Given the description of an element on the screen output the (x, y) to click on. 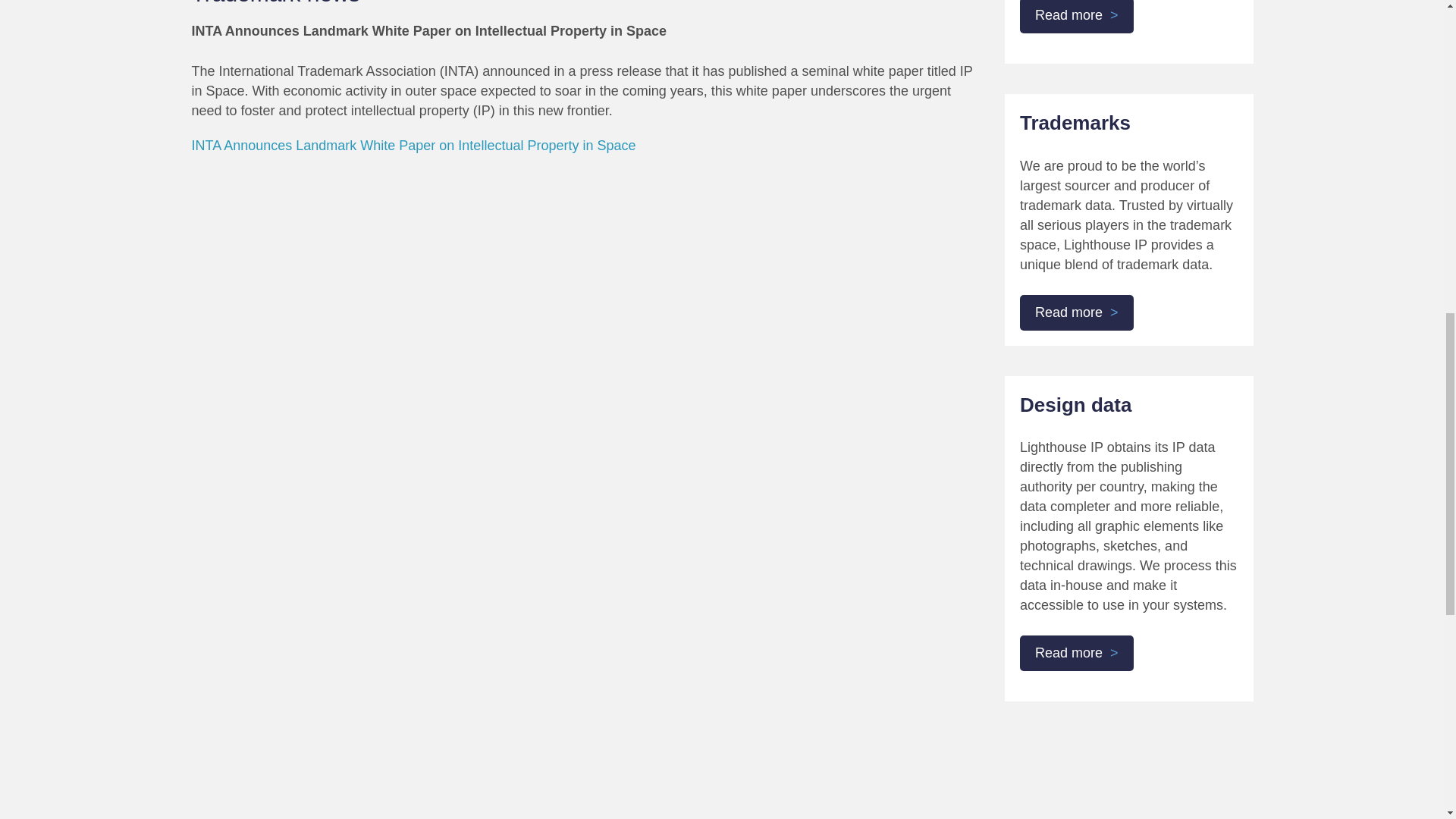
Read more (1077, 652)
Read more (1077, 312)
Read more (1077, 16)
